Given the description of an element on the screen output the (x, y) to click on. 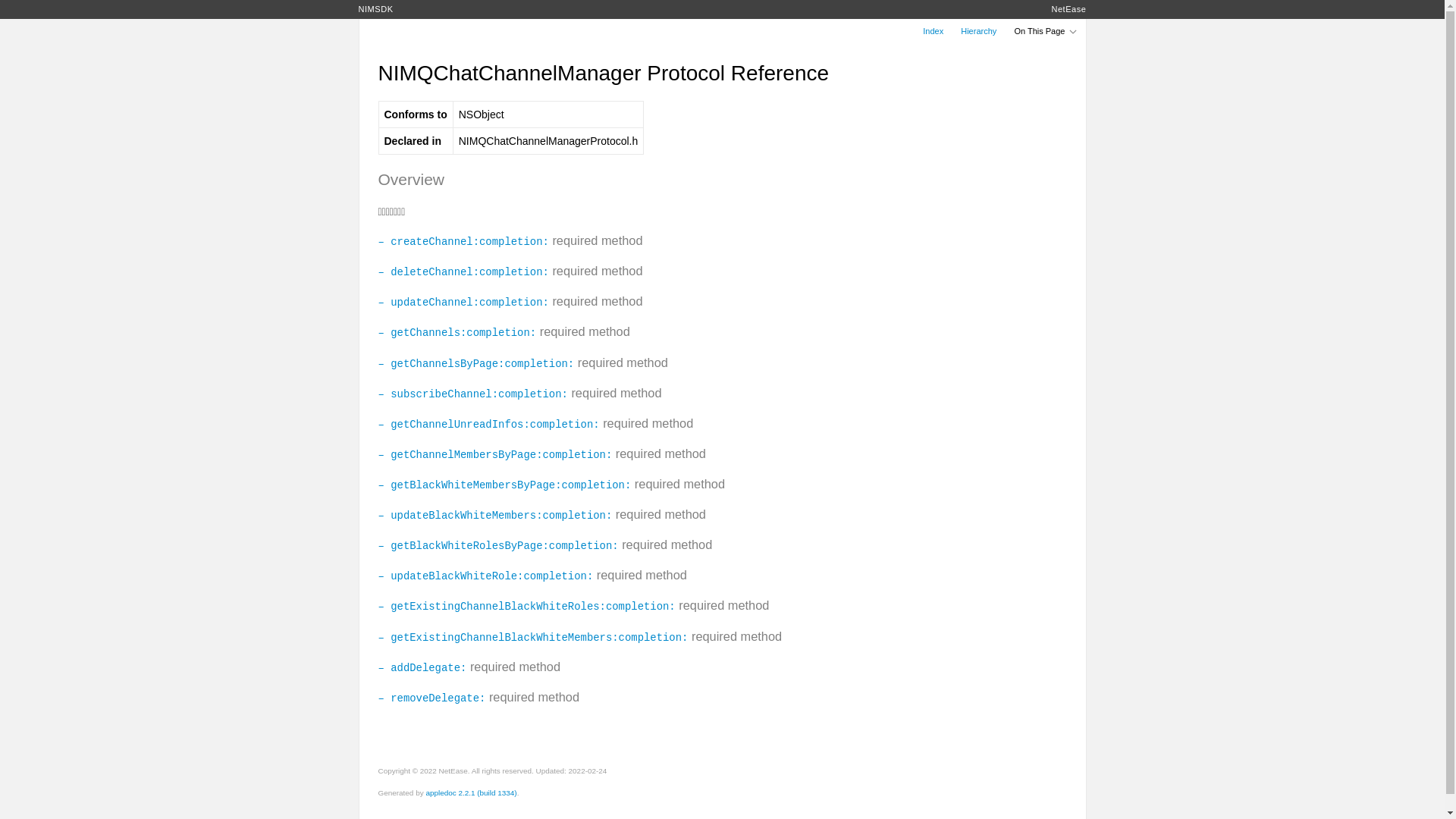
NIMSDK Element type: text (374, 8)
Index Element type: text (932, 30)
appledoc 2.2.1 (build 1334) Element type: text (470, 792)
NetEase Element type: text (1068, 8)
Hierarchy Element type: text (978, 30)
